Given the description of an element on the screen output the (x, y) to click on. 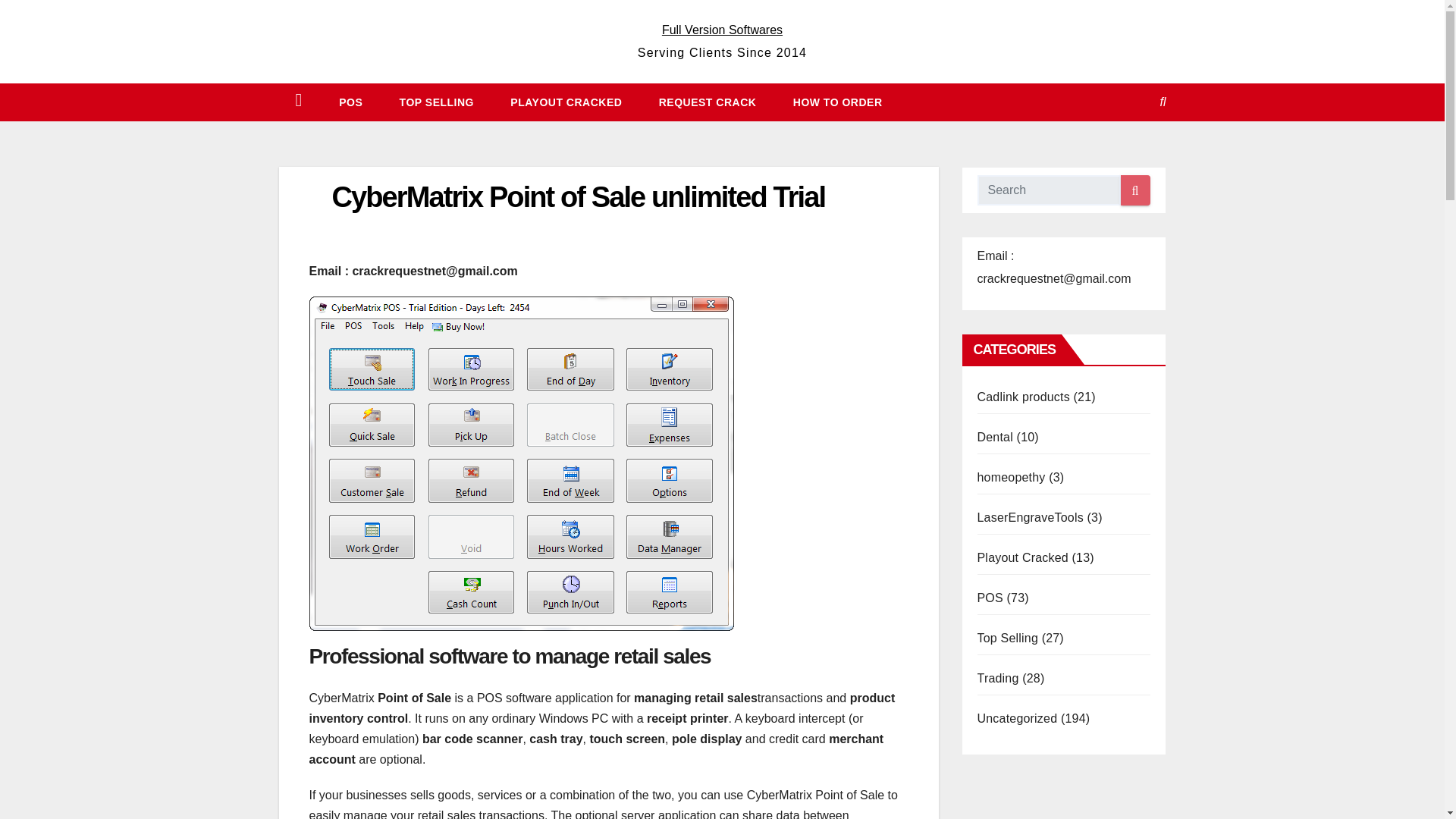
 HOW TO ORDER (835, 102)
Full Version Softwares (722, 29)
 TOP SELLING (434, 102)
Permalink to: CyberMatrix Point of Sale unlimited Trial (578, 196)
 REQUEST CRACK (706, 102)
CyberMatrix Point of Sale unlimited Trial (578, 196)
